Given the description of an element on the screen output the (x, y) to click on. 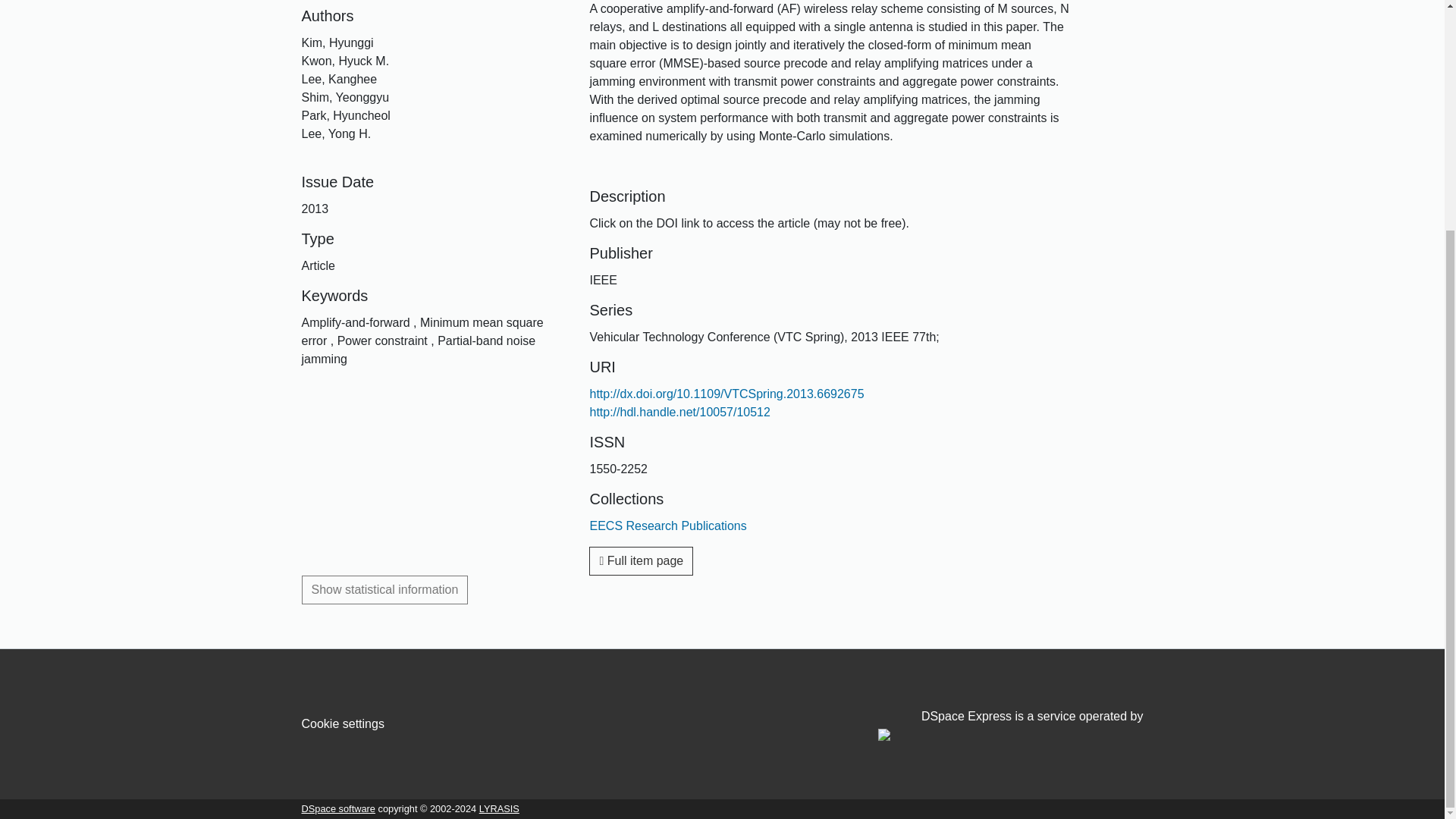
LYRASIS (499, 808)
DSpace software (338, 808)
Cookie settings (342, 723)
Full item page (641, 561)
EECS Research Publications (667, 525)
DSpace Express is a service operated by (1009, 726)
Show statistical information (384, 589)
